Given the description of an element on the screen output the (x, y) to click on. 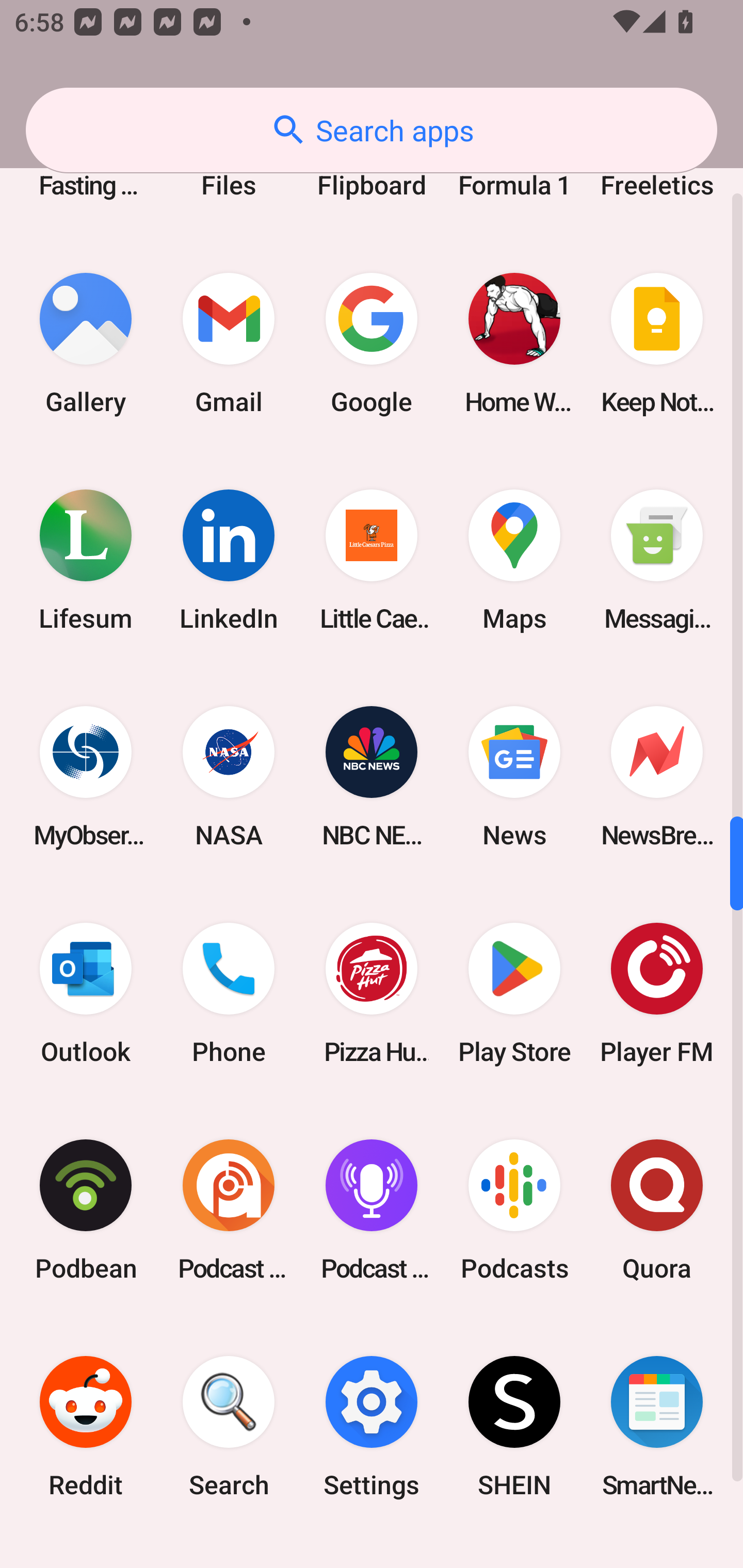
  Search apps (371, 130)
Gallery (85, 343)
Gmail (228, 343)
Google (371, 343)
Home Workout (514, 343)
Keep Notes (656, 343)
Lifesum (85, 559)
LinkedIn (228, 559)
Little Caesars Pizza (371, 559)
Maps (514, 559)
Messaging (656, 559)
MyObservatory (85, 775)
NASA (228, 775)
NBC NEWS (371, 775)
News (514, 775)
NewsBreak (656, 775)
Outlook (85, 993)
Phone (228, 993)
Pizza Hut HK & Macau (371, 993)
Play Store (514, 993)
Player FM (656, 993)
Podbean (85, 1210)
Podcast Addict (228, 1210)
Podcast Player (371, 1210)
Podcasts (514, 1210)
Quora (656, 1210)
Reddit (85, 1426)
Search (228, 1426)
Settings (371, 1426)
SHEIN (514, 1426)
SmartNews (656, 1426)
